Given the description of an element on the screen output the (x, y) to click on. 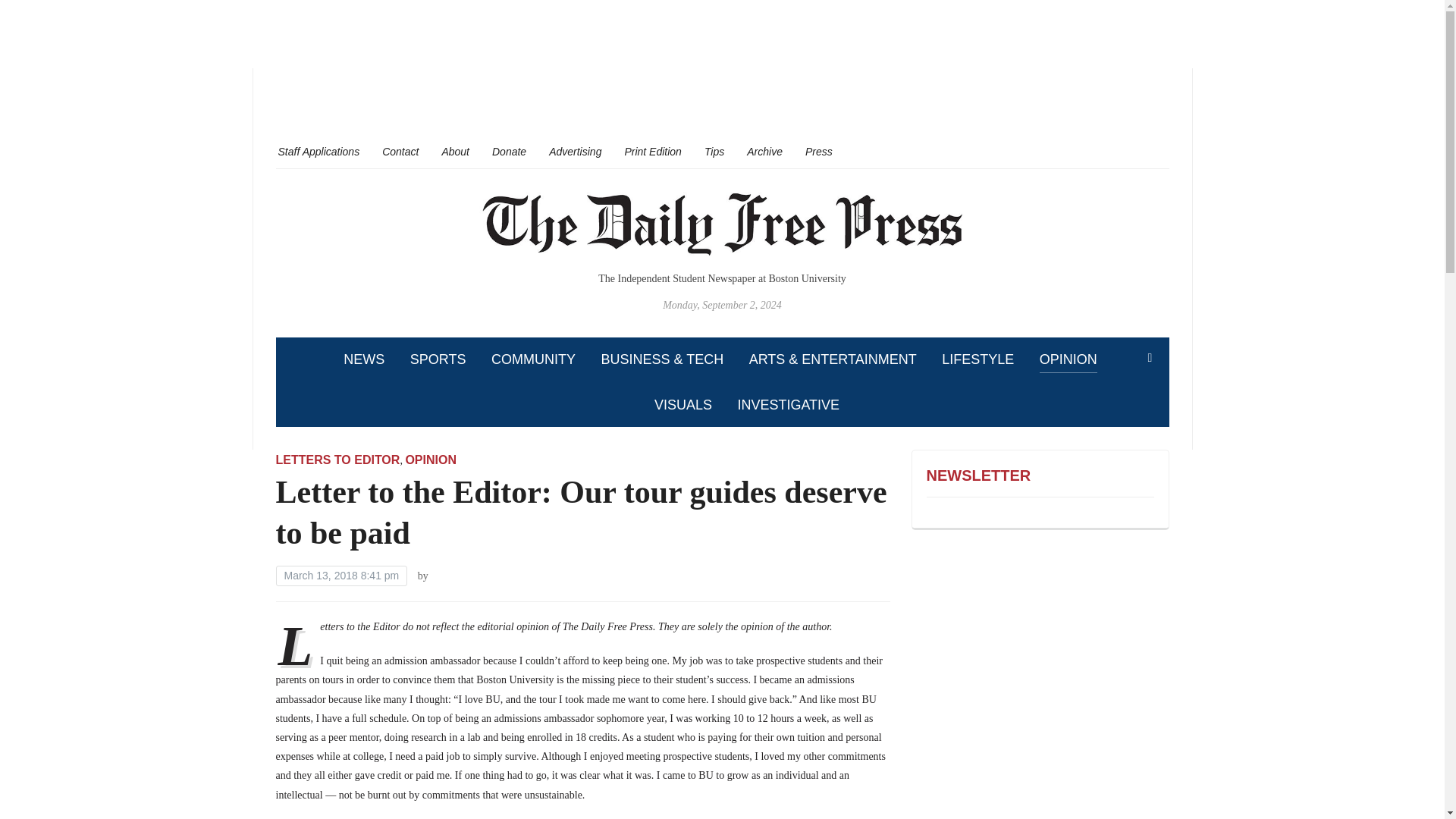
Search (1149, 358)
Donate (508, 150)
About (454, 150)
Archive (764, 150)
Staff Applications (318, 150)
Contact (400, 150)
Advertising (574, 150)
Press (818, 150)
Print Edition (652, 150)
